Given the description of an element on the screen output the (x, y) to click on. 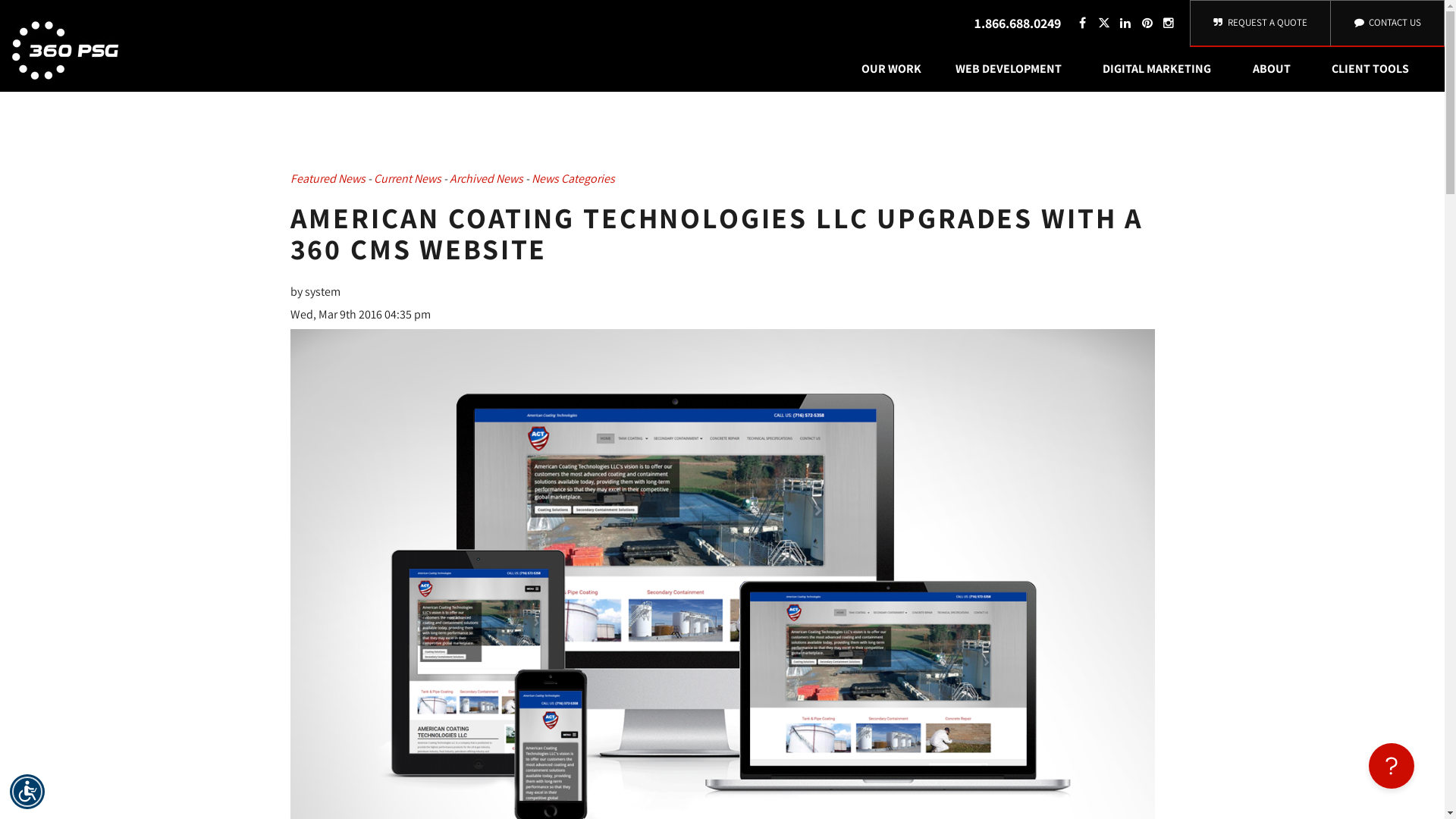
Archived News Element type: text (485, 178)
  Element type: text (1084, 23)
  REQUEST A QUOTE Element type: text (1260, 23)
Featured News Element type: text (326, 178)
DIGITAL MARKETING Element type: text (1160, 68)
1.866.688.0249 Element type: text (1017, 22)
CLIENT TOOLS Element type: text (1373, 68)
  Element type: text (1105, 23)
Current News Element type: text (406, 178)
News Categories Element type: text (572, 178)
  Element type: text (1127, 23)
  CONTACT US Element type: text (1387, 23)
  Element type: text (1170, 23)
  Element type: text (1148, 23)
OUR WORK Element type: text (891, 68)
ABOUT Element type: text (1274, 68)
WEB DEVELOPMENT Element type: text (1011, 68)
